Given the description of an element on the screen output the (x, y) to click on. 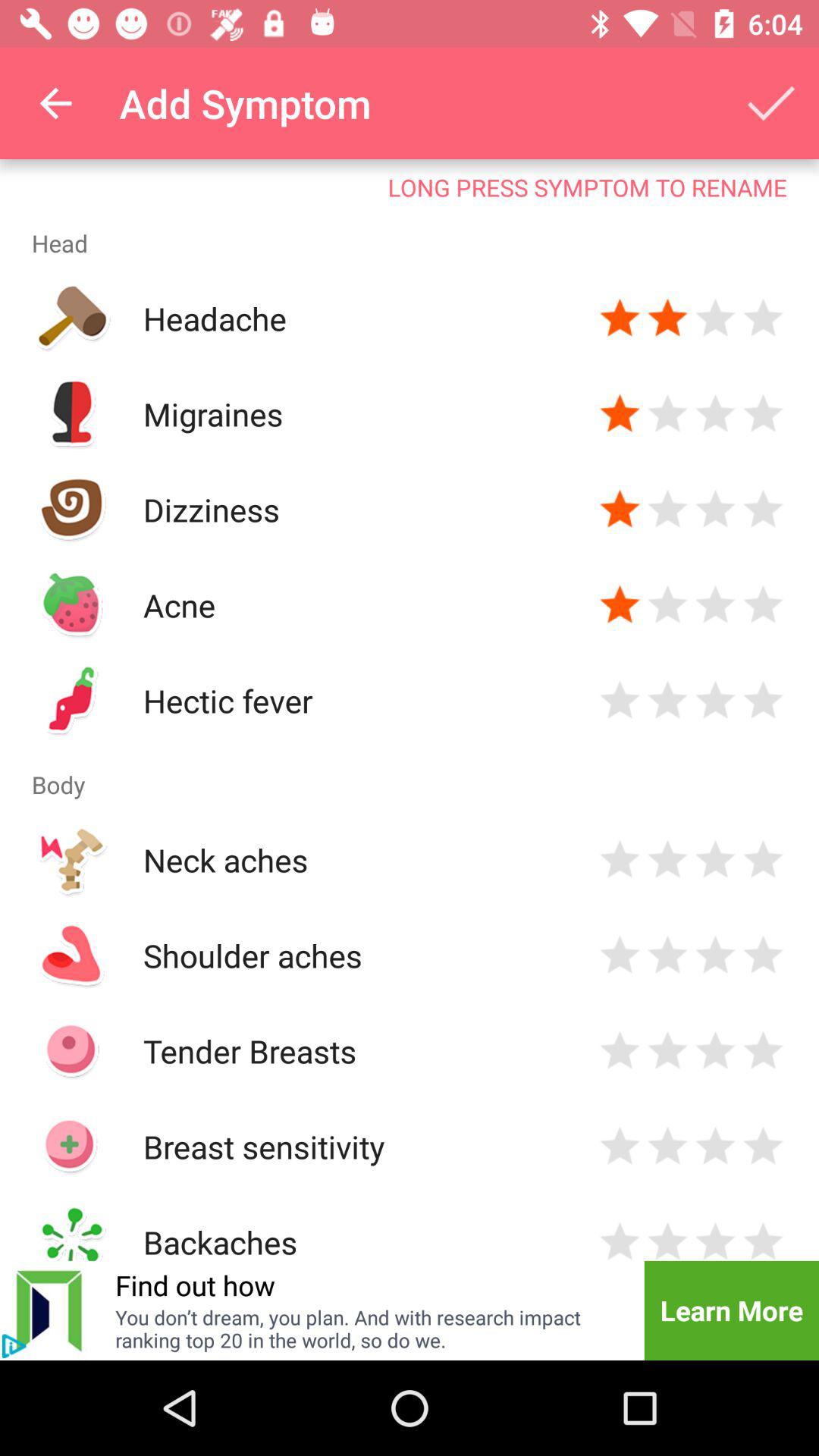
star rating (763, 1050)
